Given the description of an element on the screen output the (x, y) to click on. 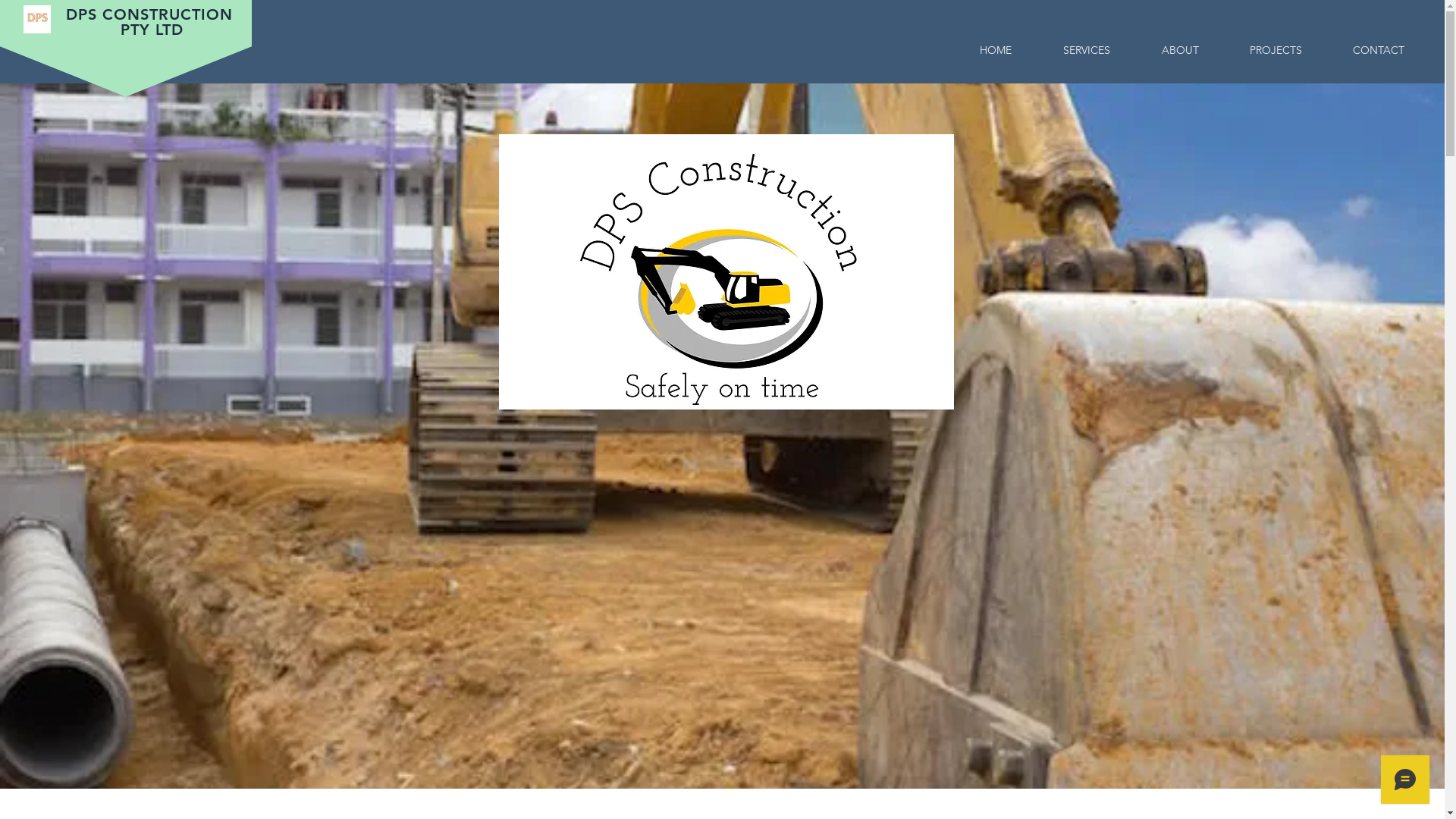
DPS CONSTRUCTION  PTY LTD Element type: text (151, 21)
ABOUT Element type: text (1179, 50)
PROJECTS Element type: text (1275, 50)
HOME Element type: text (995, 50)
CONTACT Element type: text (1378, 50)
SERVICES Element type: text (1086, 50)
